Given the description of an element on the screen output the (x, y) to click on. 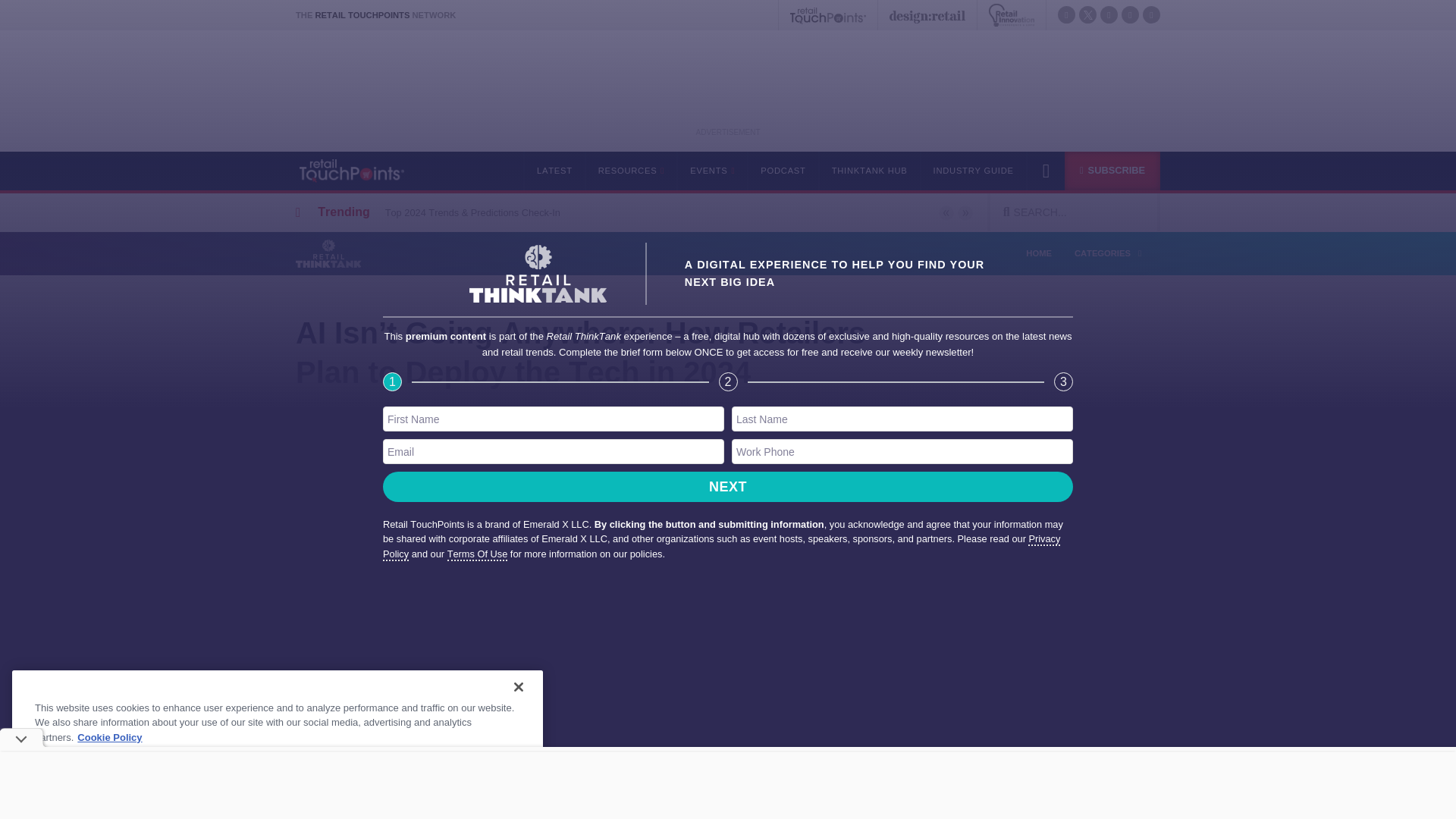
LATEST (553, 170)
PODCAST (781, 170)
THINKTANK HUB (869, 170)
EVENTS (711, 170)
3rd party ad content (727, 87)
3rd party ad content (727, 785)
INDUSTRY GUIDE (973, 170)
RESOURCES (631, 170)
